Given the description of an element on the screen output the (x, y) to click on. 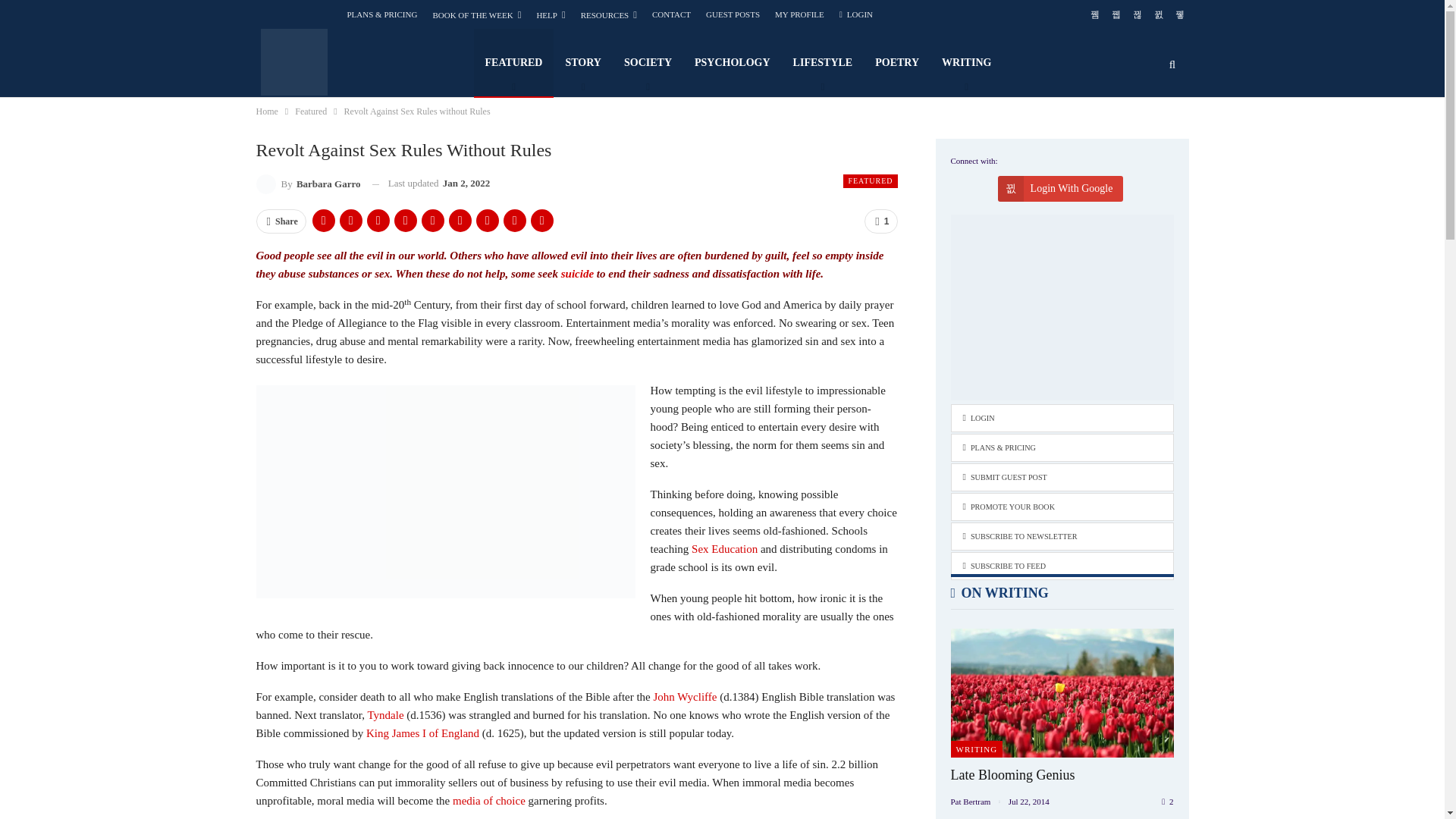
Check our Help Items (549, 14)
HELP (549, 14)
All Editions To Date (476, 14)
MY PROFILE (799, 13)
RESOURCES (608, 14)
BOOK OF THE WEEK (476, 14)
All Pricing Plans Compared (382, 13)
GUEST POSTS (733, 13)
CONTACT (671, 13)
LOGIN (856, 13)
